Given the description of an element on the screen output the (x, y) to click on. 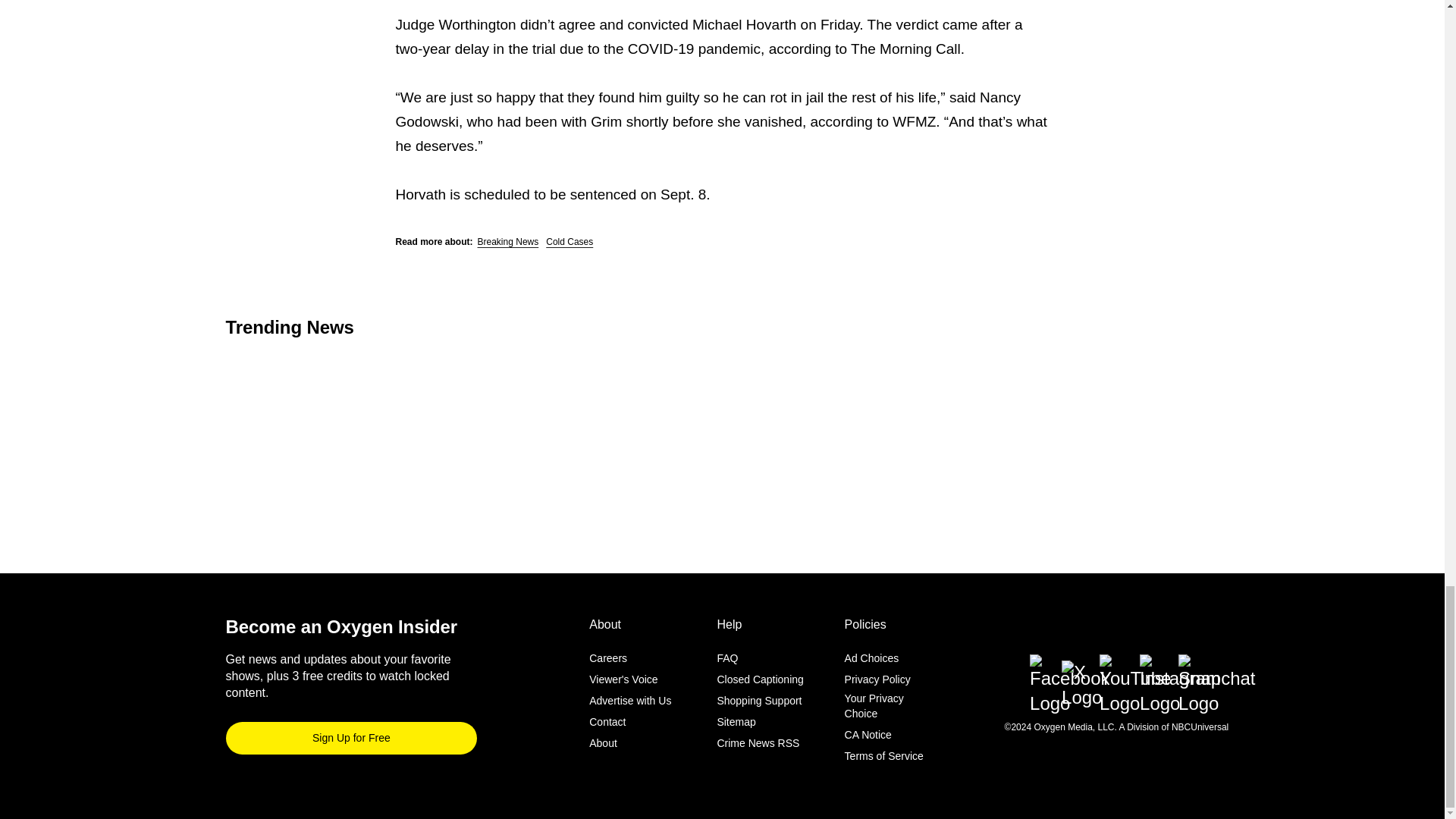
Breaking News (507, 241)
Cold Cases (569, 241)
Advertise with Us (630, 701)
